Given the description of an element on the screen output the (x, y) to click on. 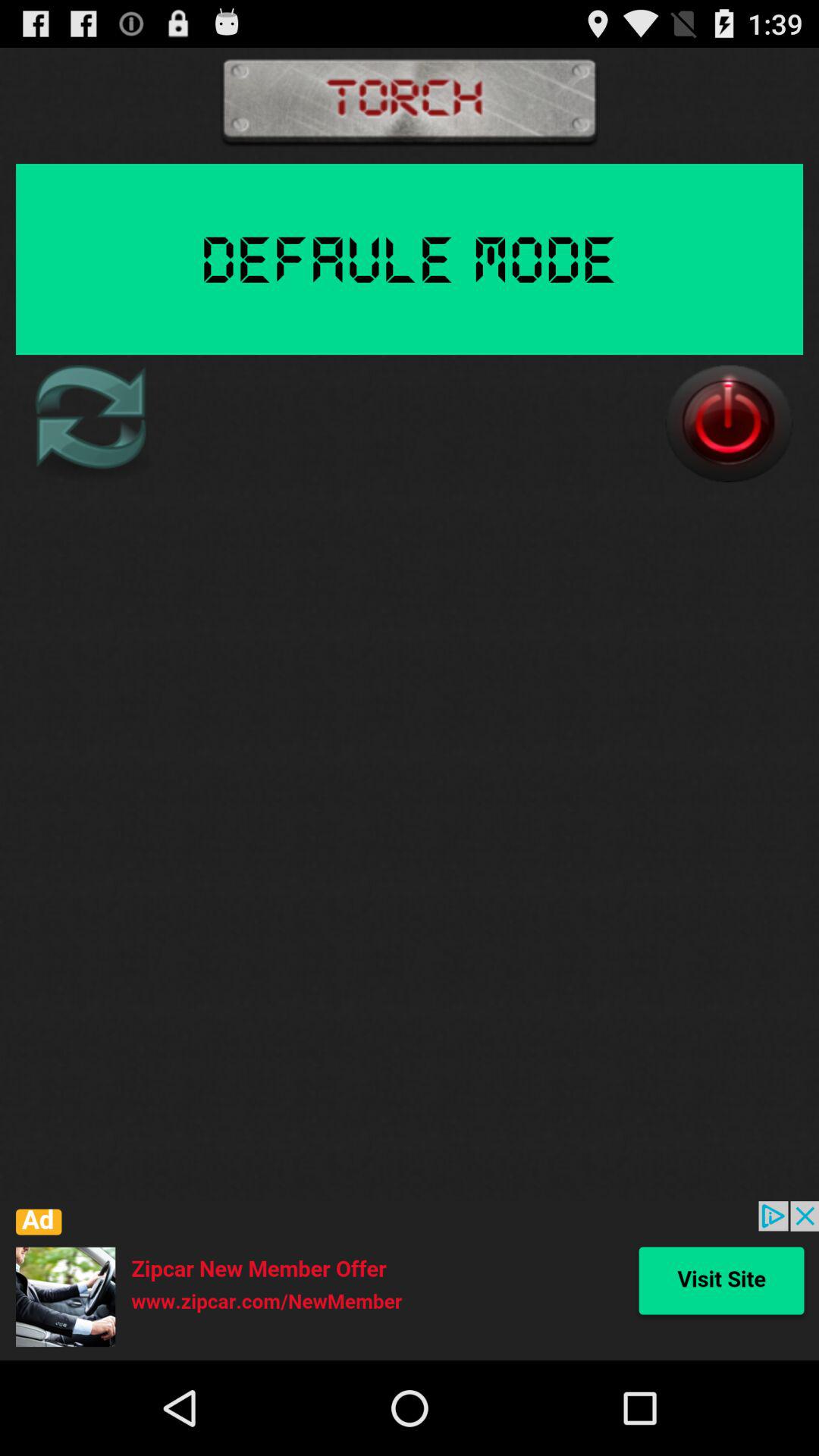
toggle on/off flashlight (728, 423)
